Given the description of an element on the screen output the (x, y) to click on. 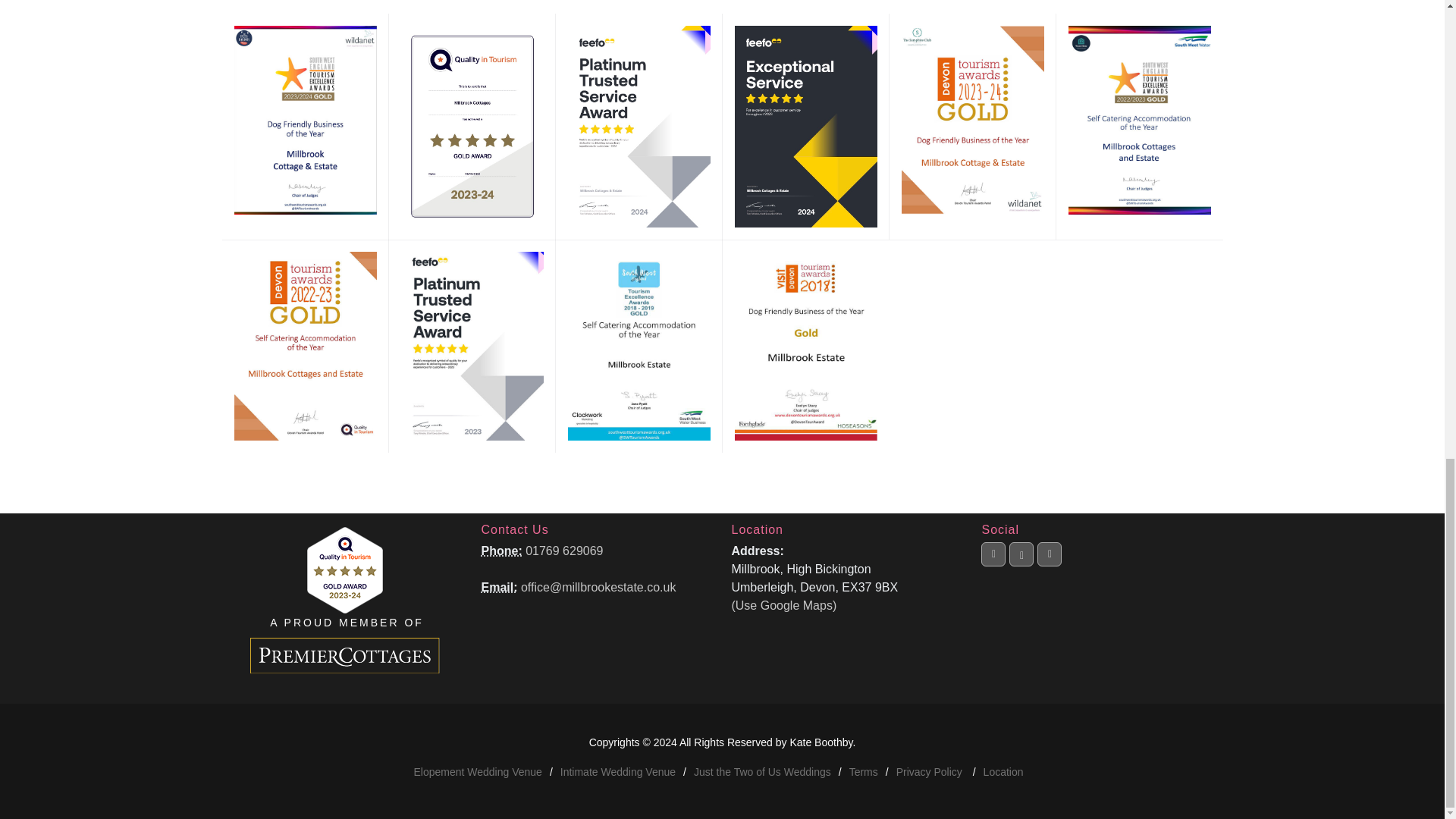
vimeo (1049, 576)
facebook (992, 576)
instagram (1021, 555)
vimeo (1049, 553)
facebook (992, 553)
Phone Number (500, 550)
Email Address (498, 586)
